Given the description of an element on the screen output the (x, y) to click on. 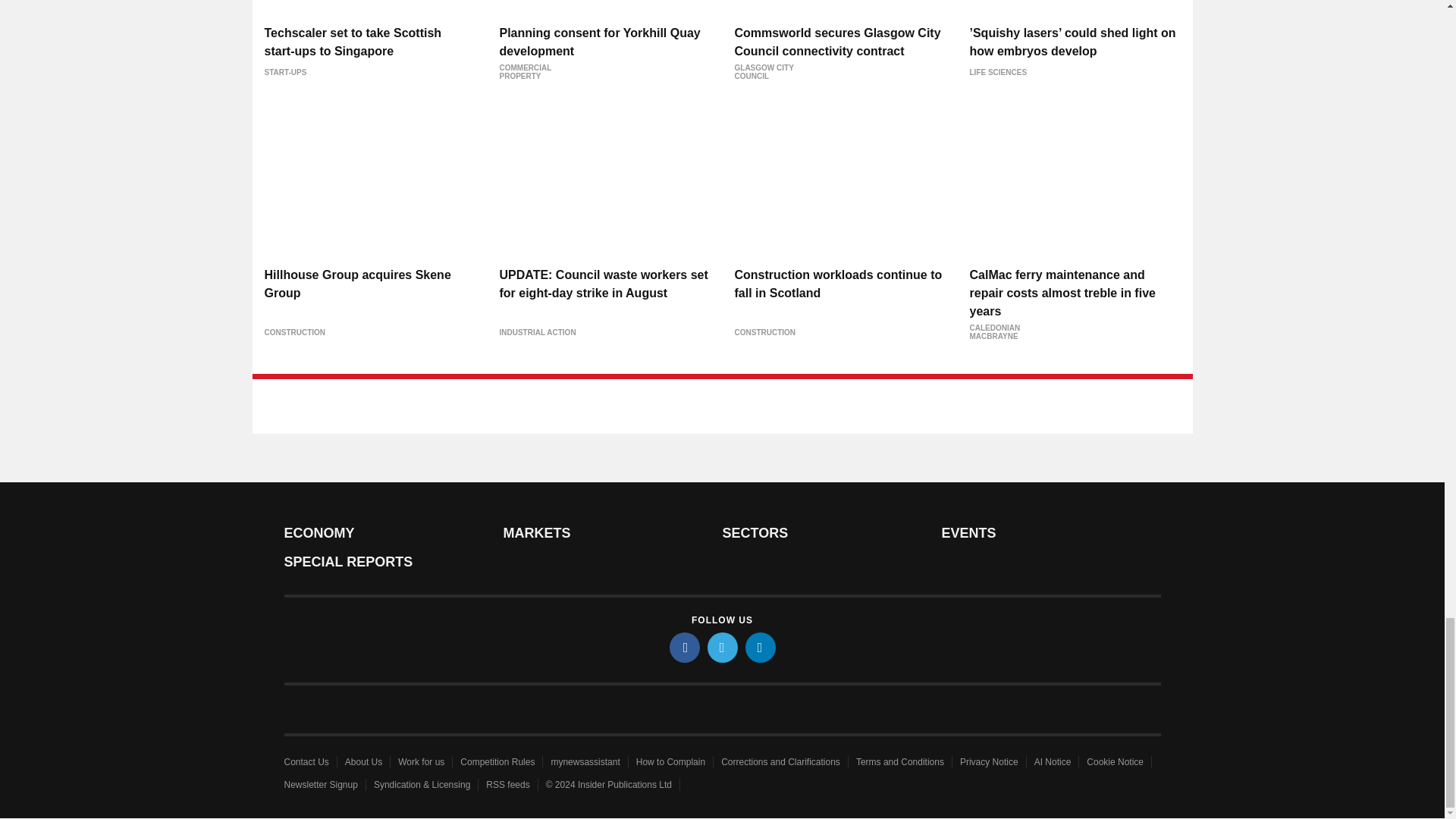
linkedin (759, 647)
twitter (721, 647)
facebook (683, 647)
